Given the description of an element on the screen output the (x, y) to click on. 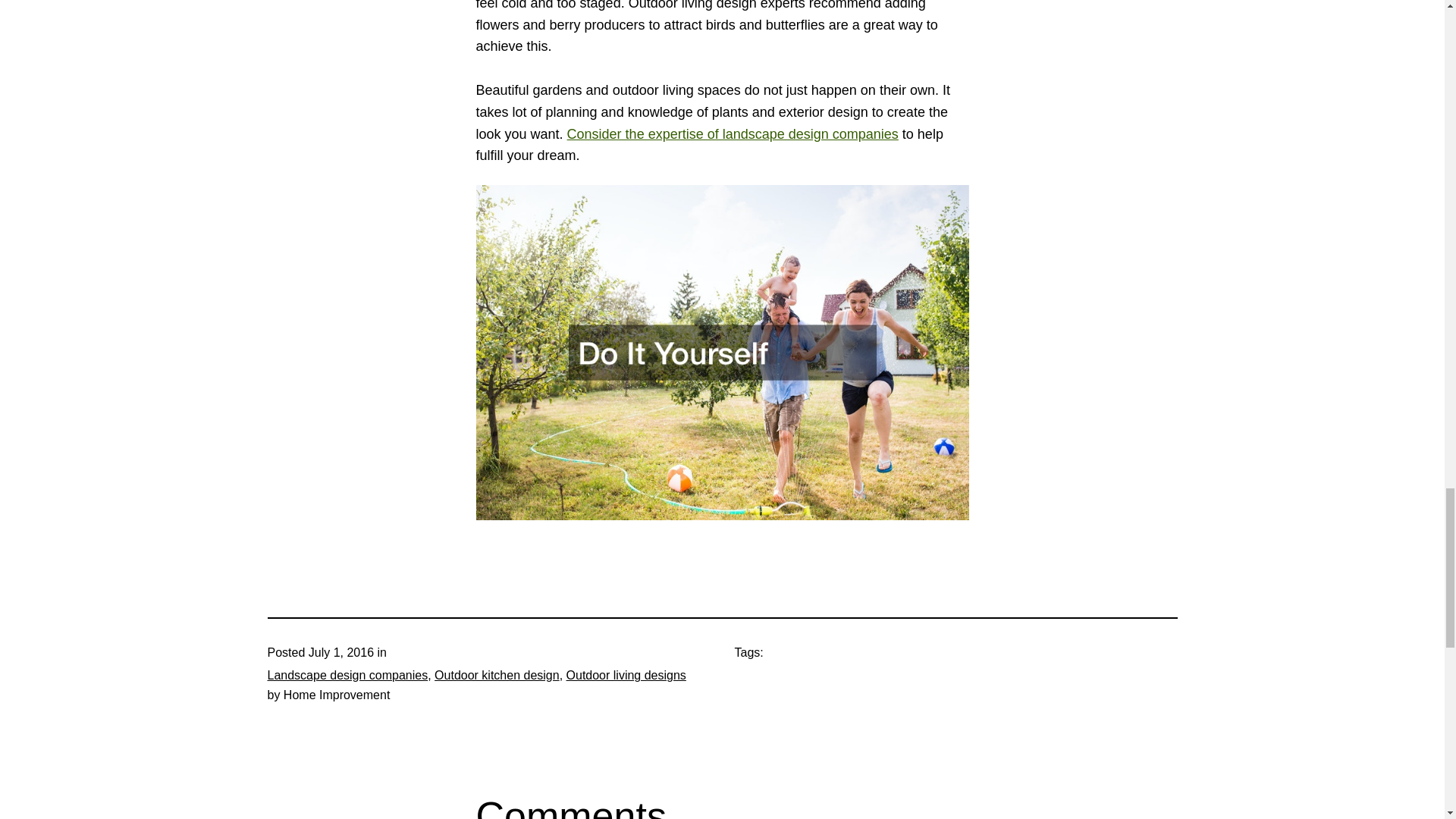
Outdoor kitchen design (496, 675)
Here is something I like (732, 133)
Landscape design companies (347, 675)
Outdoor living designs (625, 675)
Consider the expertise of landscape design companies (732, 133)
